Given the description of an element on the screen output the (x, y) to click on. 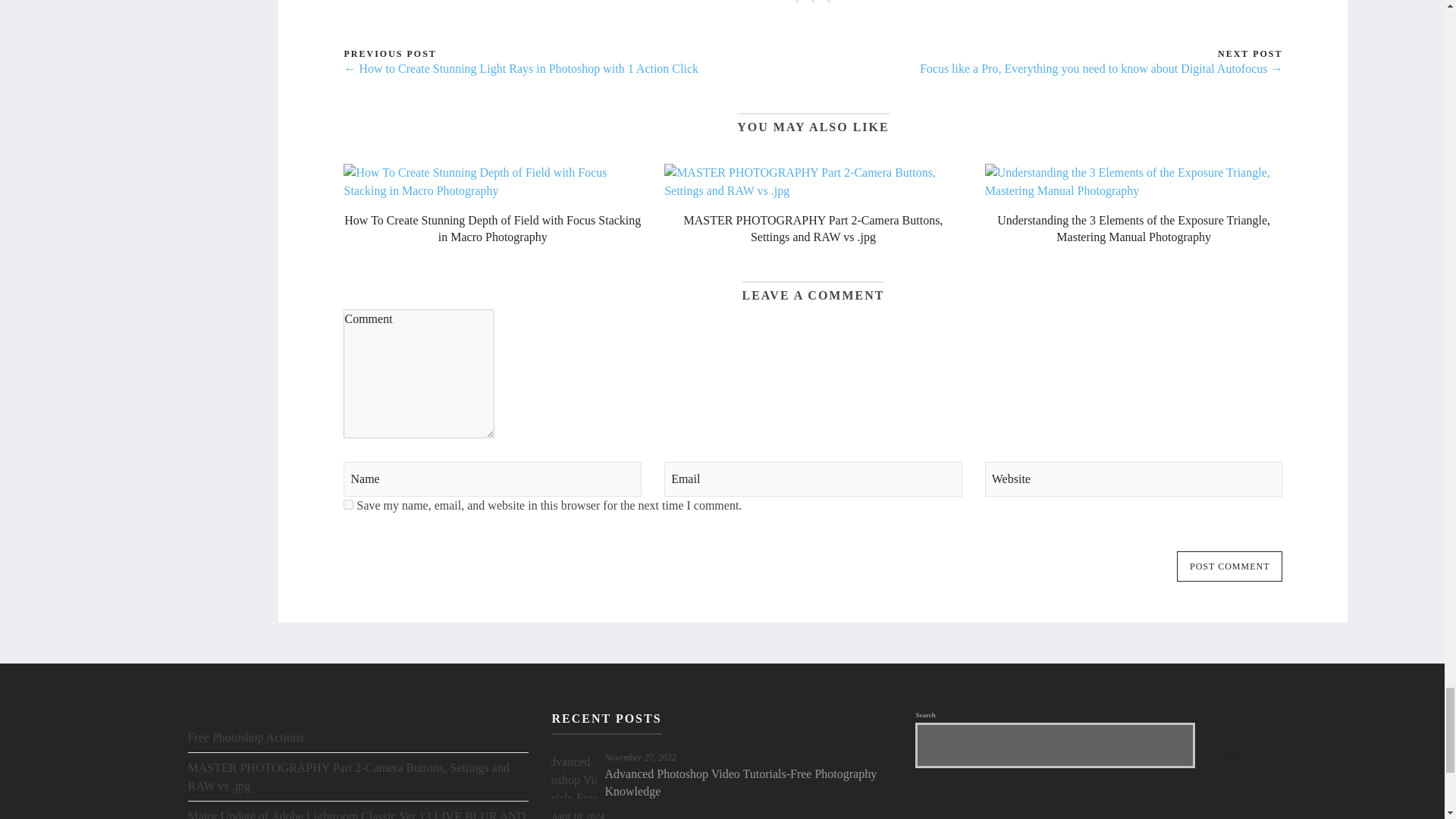
Post Comment (1229, 566)
yes (348, 504)
